Given the description of an element on the screen output the (x, y) to click on. 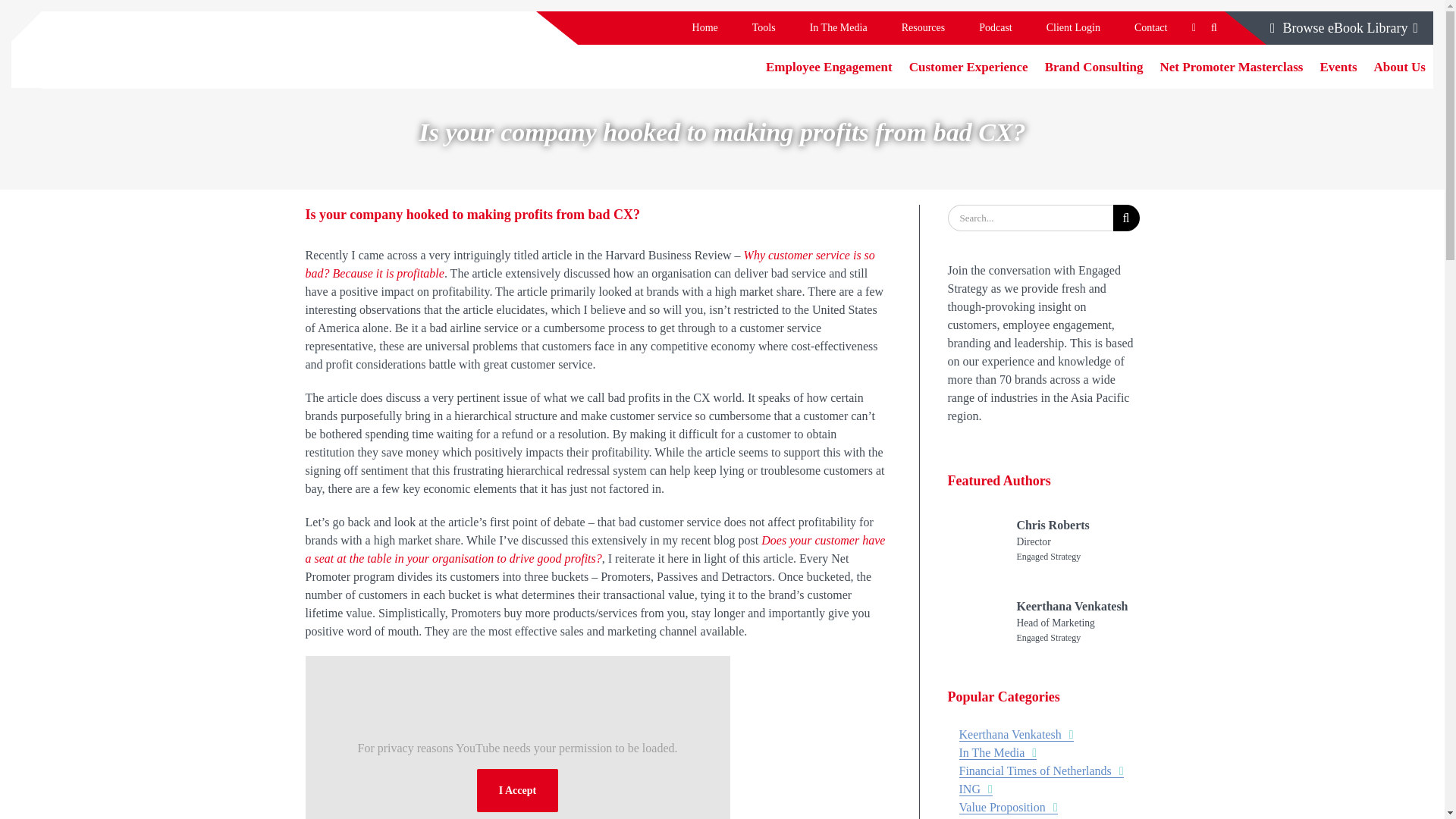
Strategy Edge Podcast (995, 28)
Browse eBook Library (1343, 28)
In The Media (837, 28)
Home (705, 28)
Resources (922, 28)
Tools (763, 28)
